Given the description of an element on the screen output the (x, y) to click on. 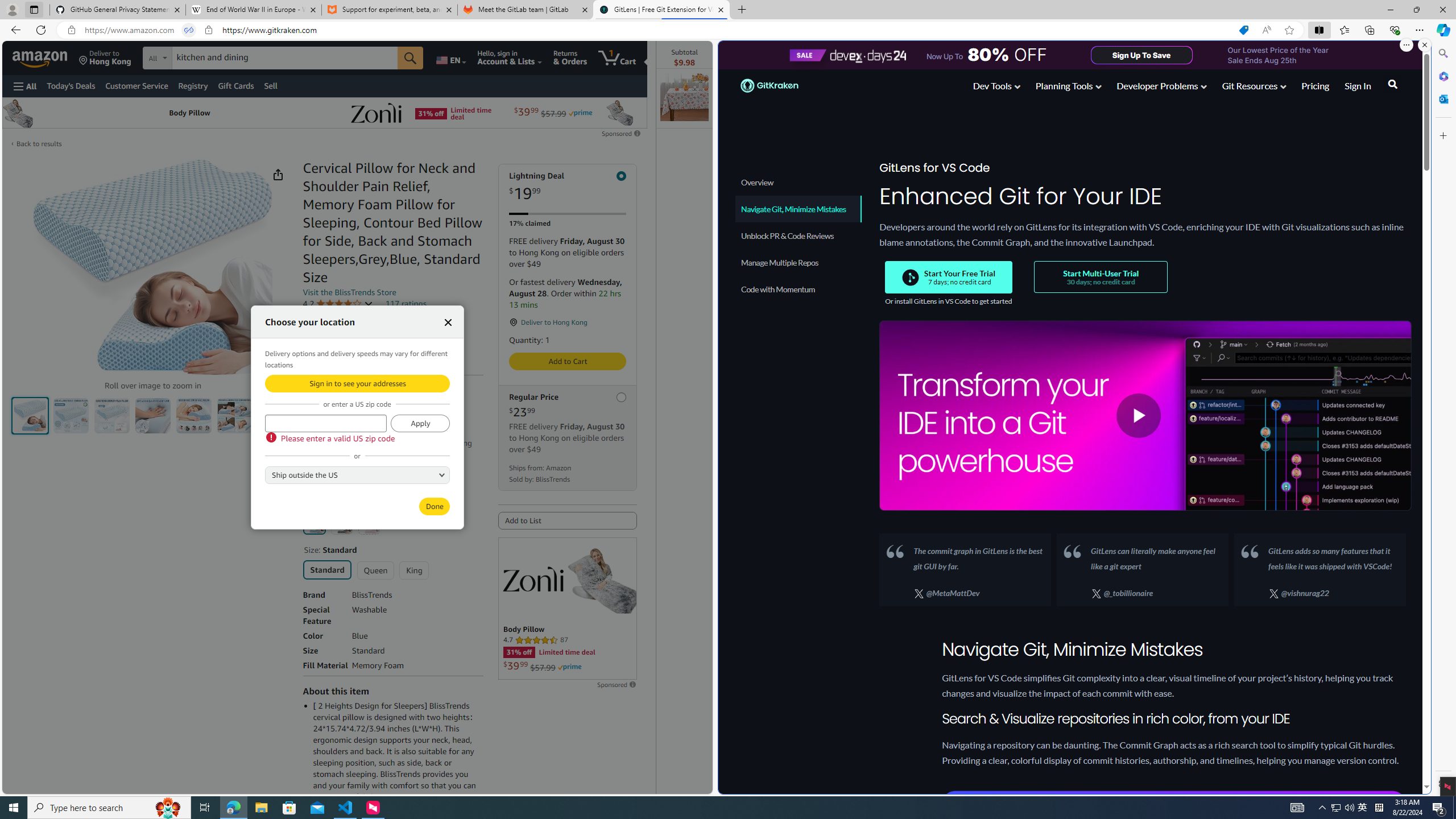
Apply (419, 423)
AutomationID: GLUXCountryList (356, 474)
Search in (199, 58)
GitLens | Free Git Extension for Visual Studio Code (660, 9)
Details  (341, 454)
Shop items (327, 481)
Queen (374, 570)
Search Amazon (284, 57)
Done (434, 506)
